Given the description of an element on the screen output the (x, y) to click on. 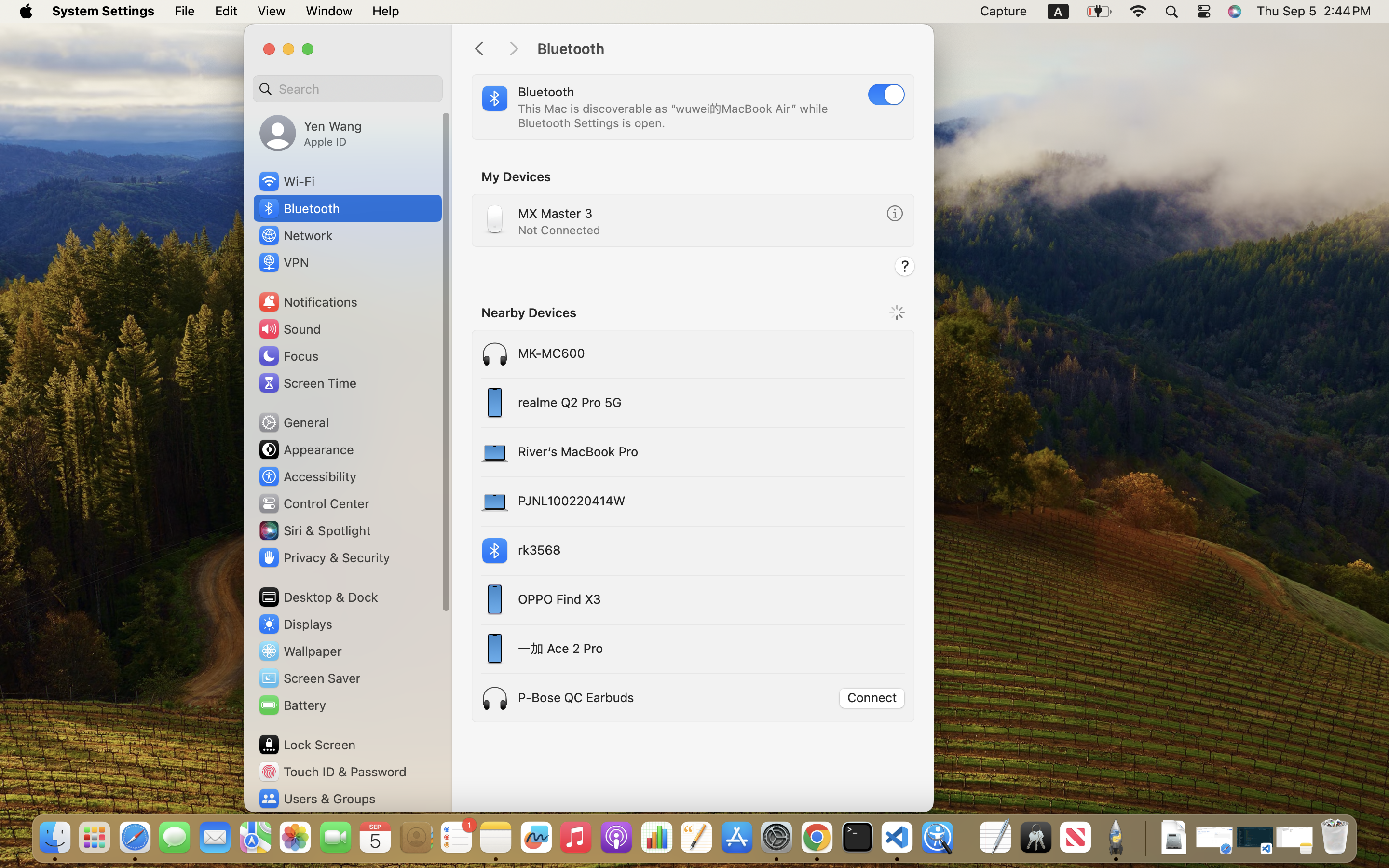
realme Q2 Pro 5G Element type: AXStaticText (655, 402)
MX Master 3 Element type: AXStaticText (554, 212)
This Mac is discoverable as “wuwei的MacBook Air” while Bluetooth Settings is open. Element type: AXStaticText (674, 115)
Screen Time Element type: AXStaticText (306, 382)
MK-MC600 Element type: AXStaticText (655, 353)
